Given the description of an element on the screen output the (x, y) to click on. 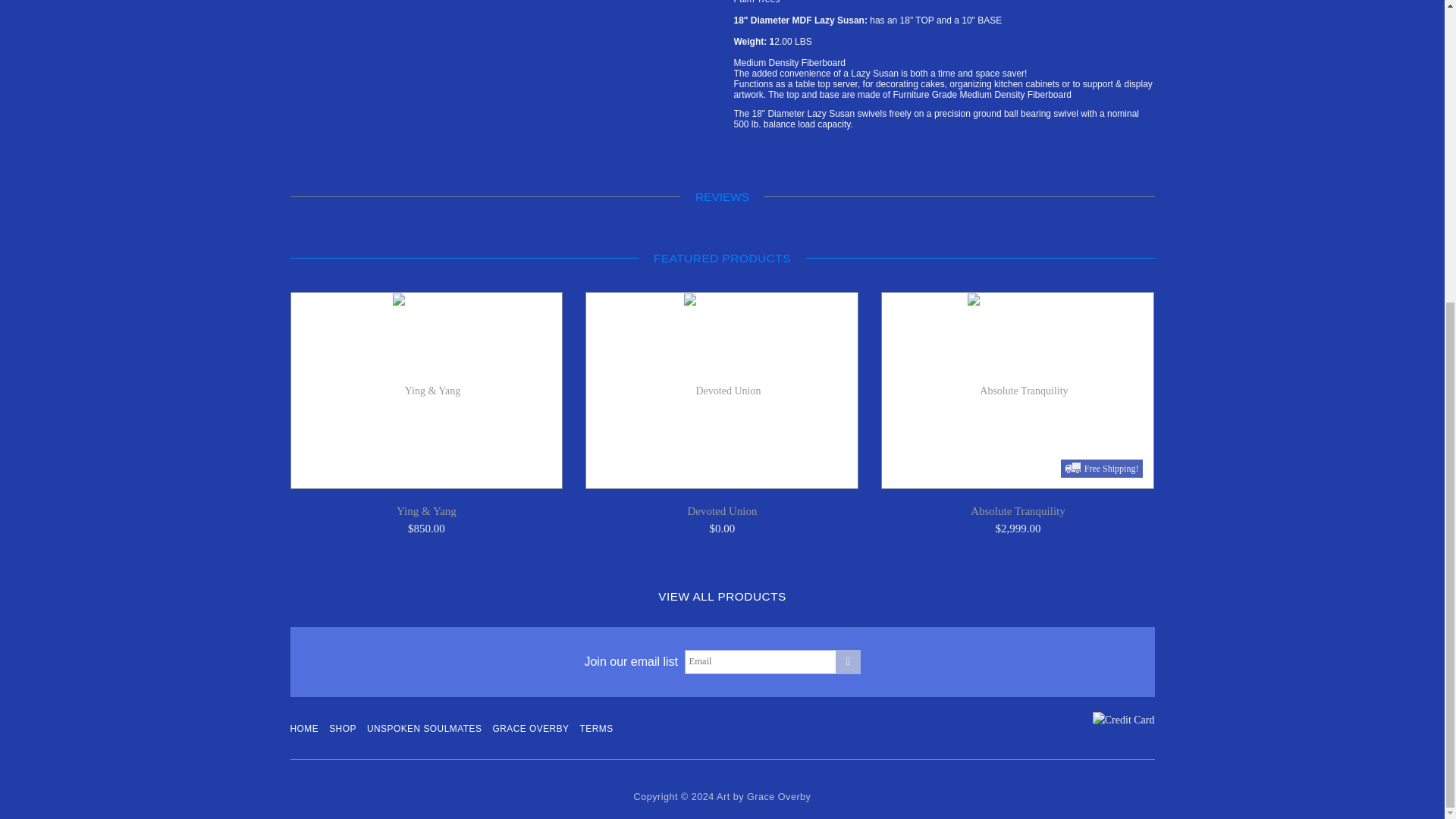
Absolute Tranquility (1017, 510)
VIEW ALL PRODUCTS (722, 595)
TERMS (595, 729)
HOME (303, 729)
GRACE OVERBY (530, 729)
UNSPOKEN SOULMATES (423, 729)
Devoted Union (722, 510)
SHOP (342, 729)
Free Shipping! (1017, 390)
